Given the description of an element on the screen output the (x, y) to click on. 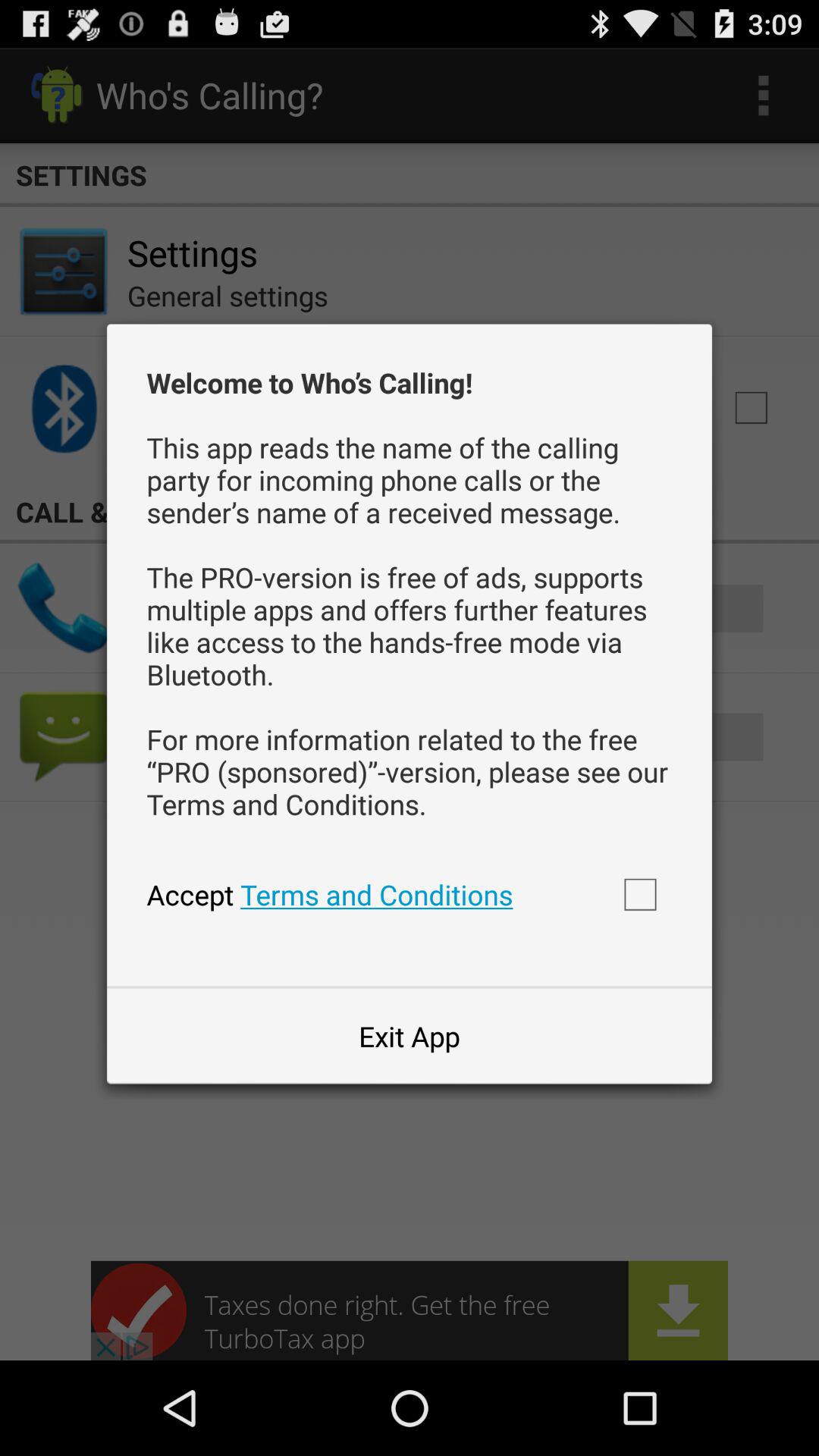
toggle accept terms and conditions (640, 894)
